Given the description of an element on the screen output the (x, y) to click on. 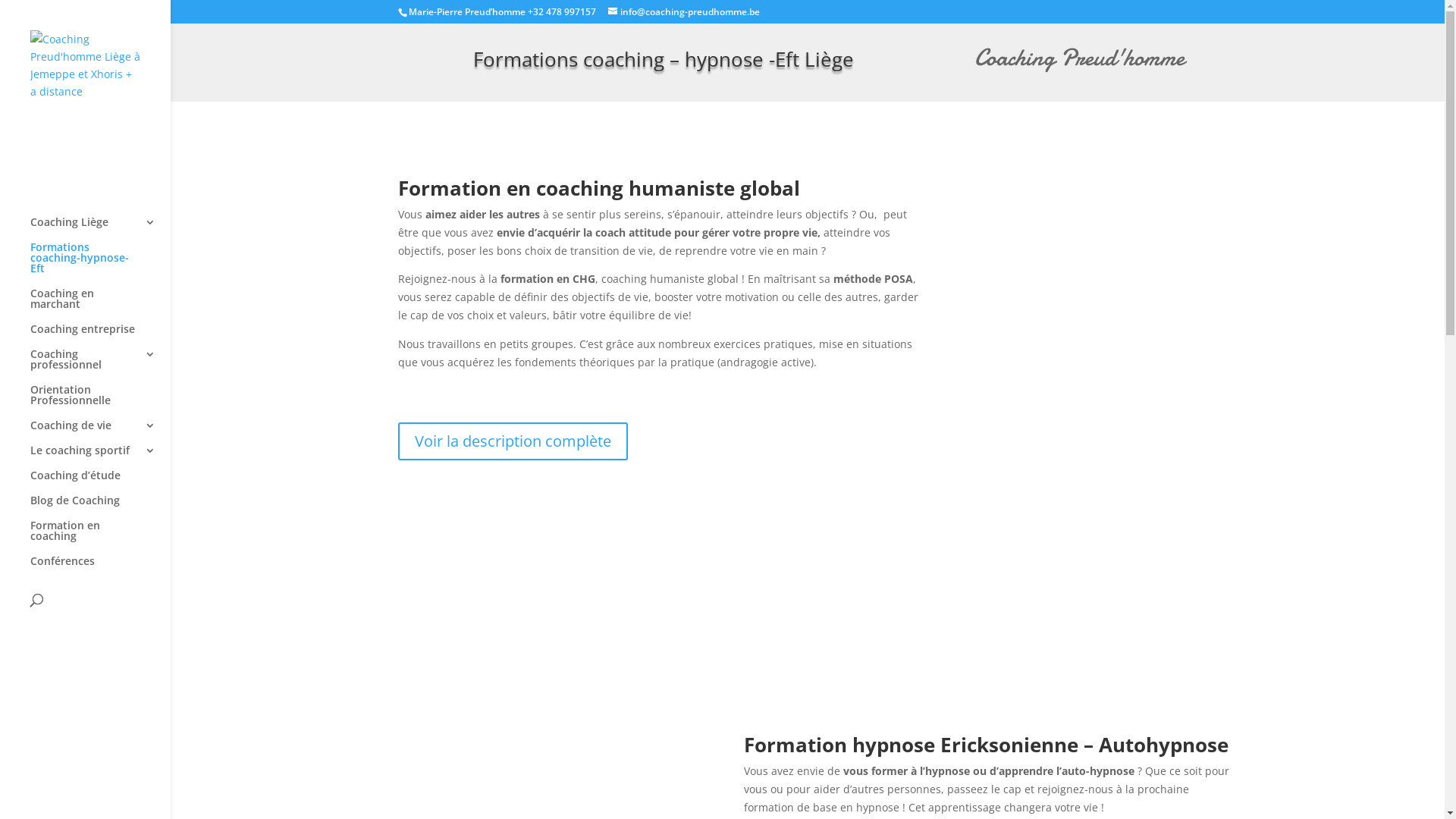
info@coaching-preudhomme.be Element type: text (683, 11)
Blog de Coaching Element type: text (100, 506)
Coaching entreprise Element type: text (100, 335)
Coaching de vie Element type: text (100, 432)
Formations coaching-hypnose-Eft Element type: text (100, 264)
Orientation Professionnelle Element type: text (100, 401)
Coaching professionnel Element type: text (100, 366)
Le coaching sportif Element type: text (100, 456)
Formation en coaching Element type: text (100, 537)
Coaching en marchant Element type: text (100, 305)
